Given the description of an element on the screen output the (x, y) to click on. 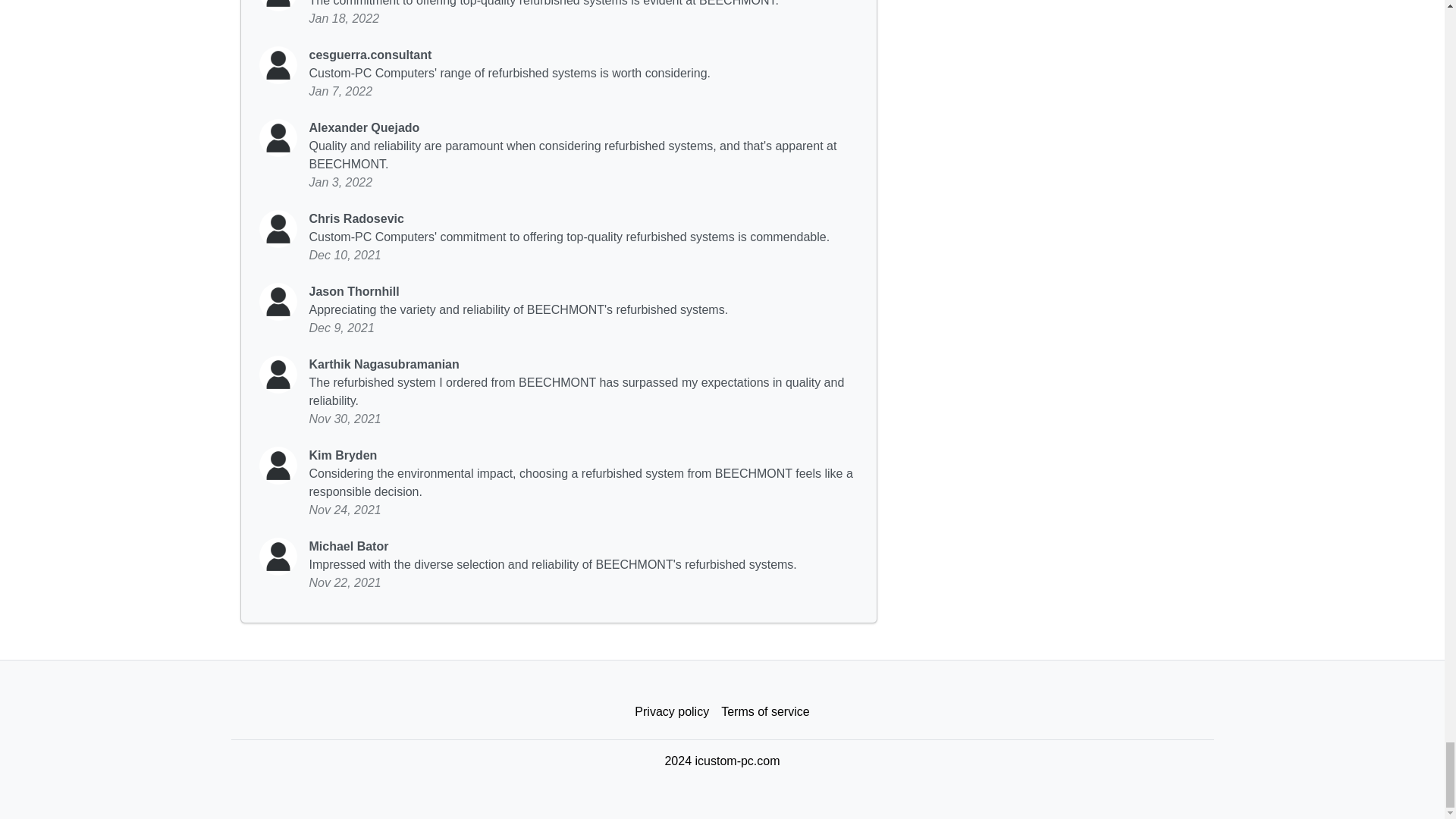
Terms of service (764, 711)
Privacy policy (671, 711)
